Given the description of an element on the screen output the (x, y) to click on. 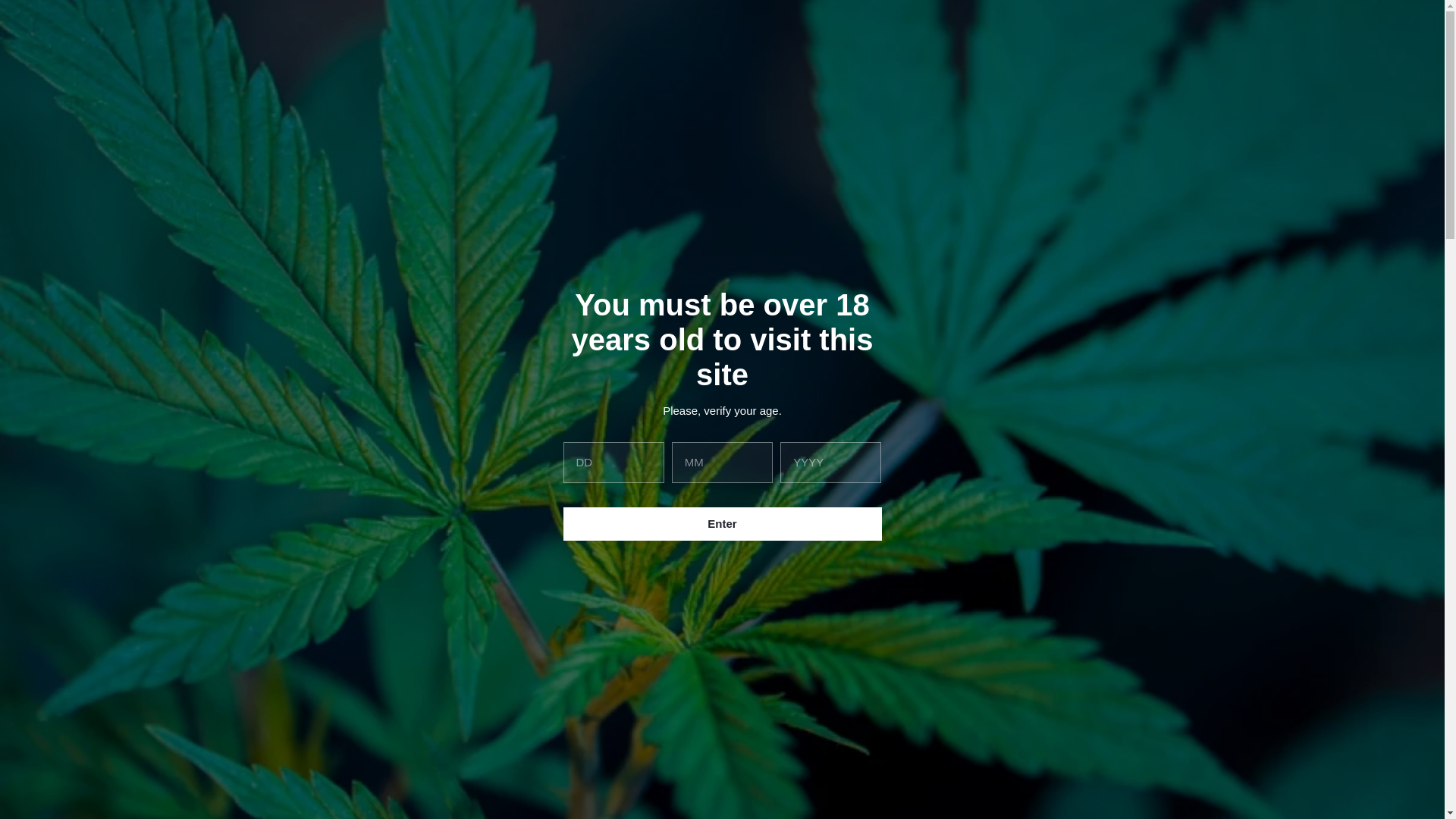
Jun 2, 2022 (618, 265)
Shop (110, 100)
Enter (721, 523)
All Posts (389, 161)
2 min read (684, 265)
About (162, 100)
lakewoodcannabis (508, 265)
lwc-smalllogo4.png (722, 48)
Home (58, 100)
Blog (211, 100)
lakewoodcannabis (513, 265)
